Given the description of an element on the screen output the (x, y) to click on. 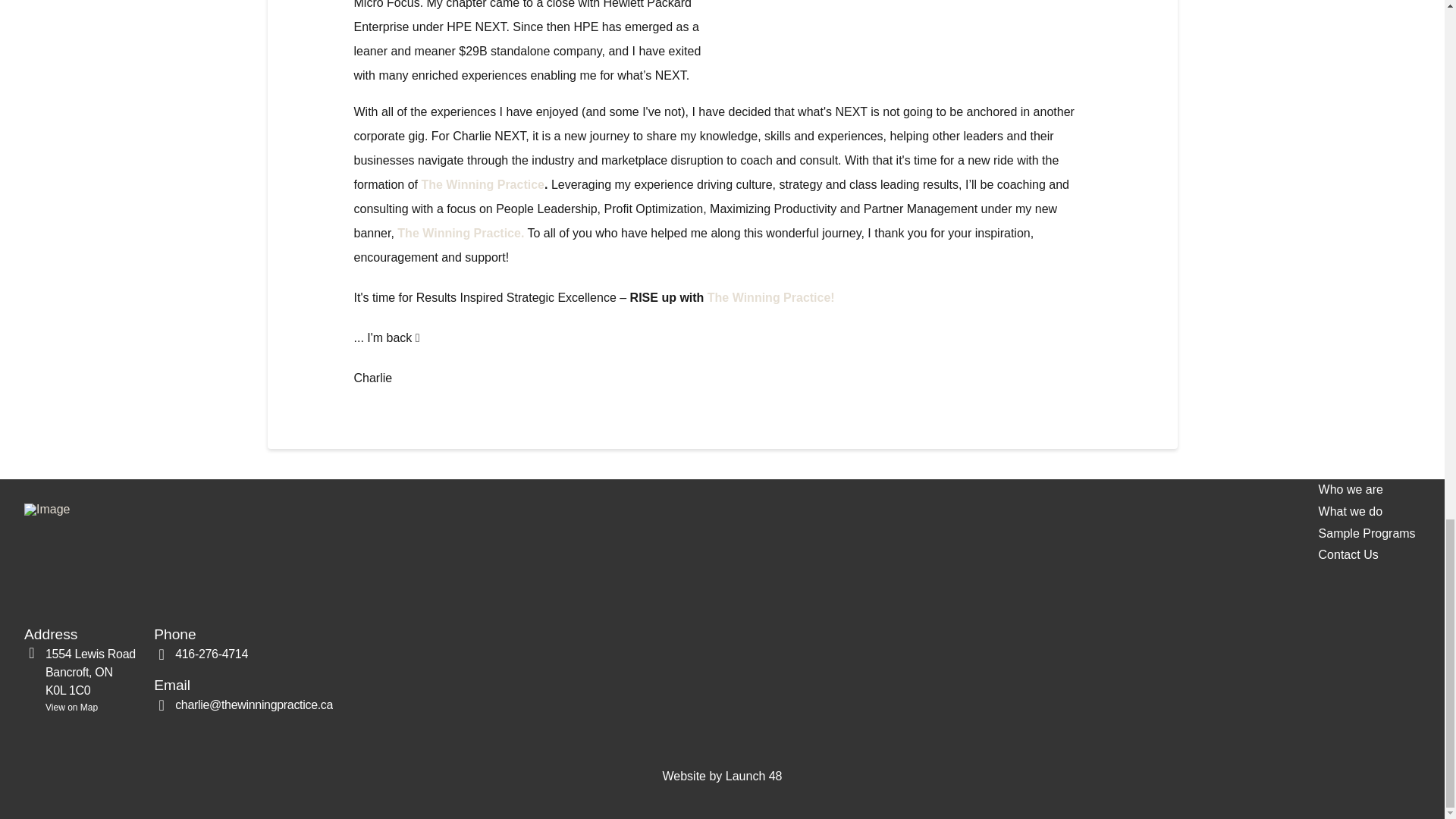
What we do (1350, 512)
416-276-4714 (200, 654)
Sample Programs (1367, 533)
The Winning Practice (79, 678)
Who we are (482, 184)
Contact Us (1350, 490)
The Winning Practice! (1348, 555)
The Winning Practice. (770, 297)
